Given the description of an element on the screen output the (x, y) to click on. 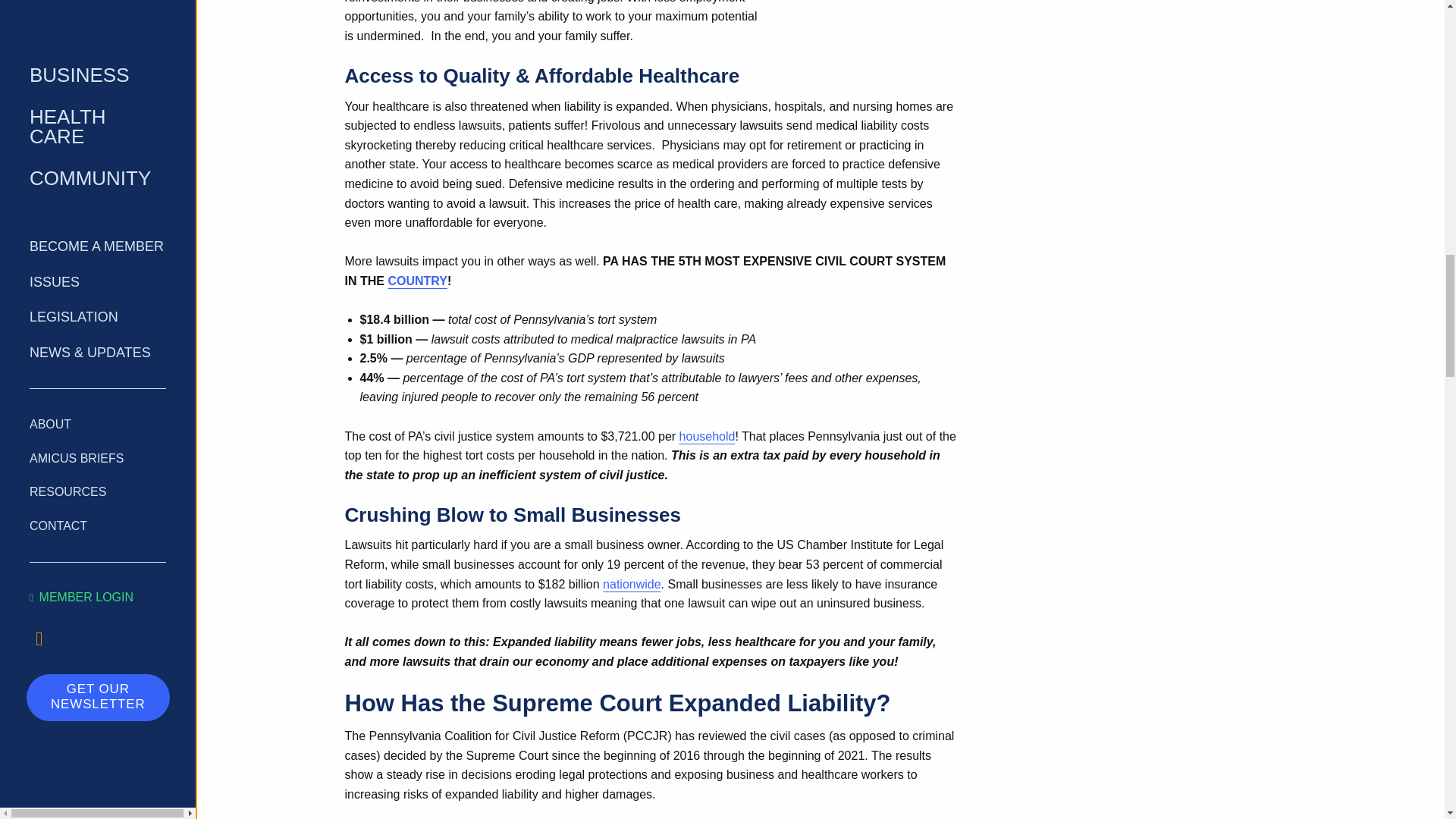
nationwide (631, 584)
household (707, 436)
COUNTRY (416, 280)
